Given the description of an element on the screen output the (x, y) to click on. 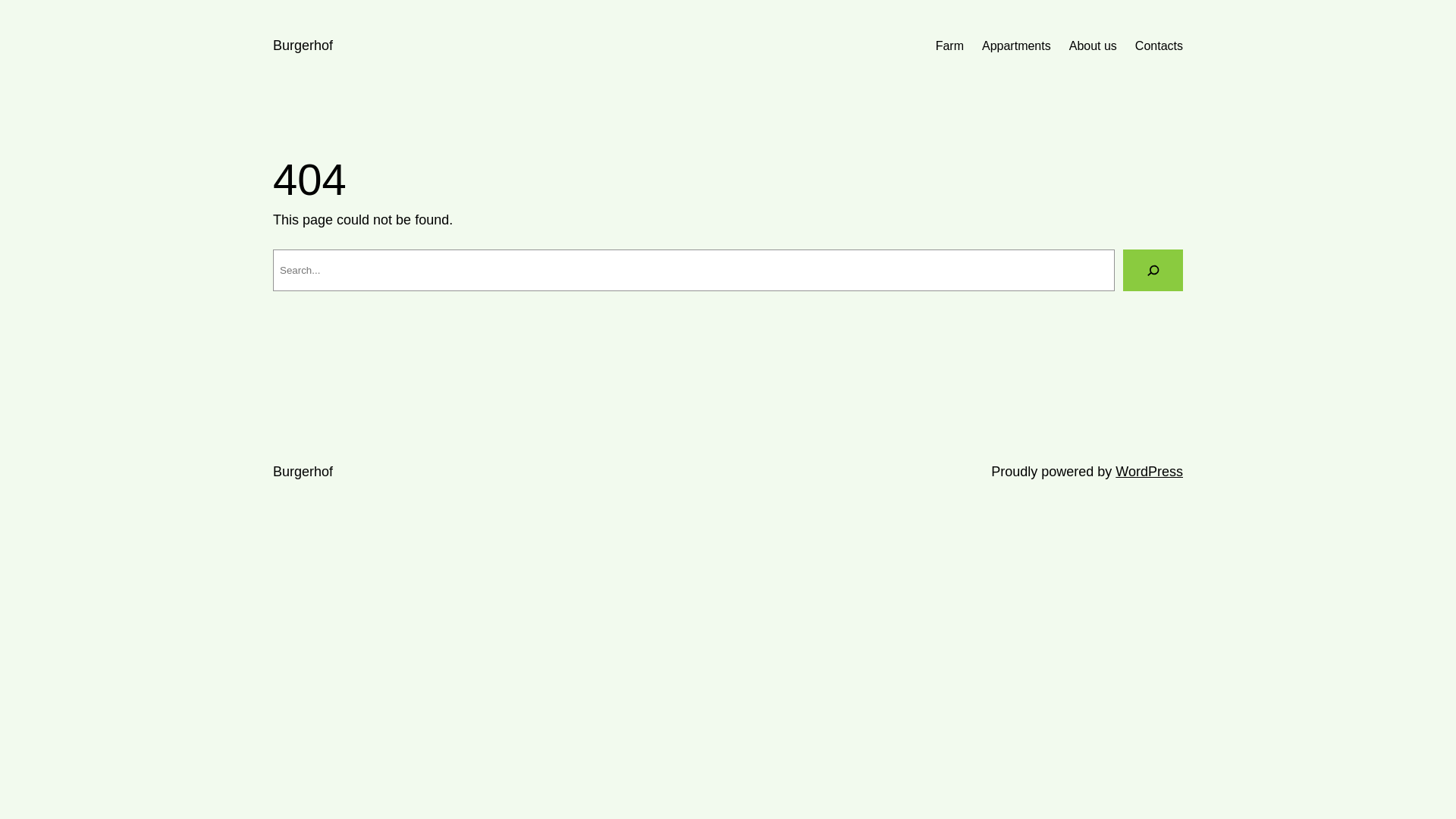
Burgerhof Element type: text (302, 471)
Farm Element type: text (949, 46)
WordPress Element type: text (1149, 471)
Appartments Element type: text (1016, 46)
About us Element type: text (1093, 46)
Burgerhof Element type: text (302, 45)
Contacts Element type: text (1159, 46)
